Given the description of an element on the screen output the (x, y) to click on. 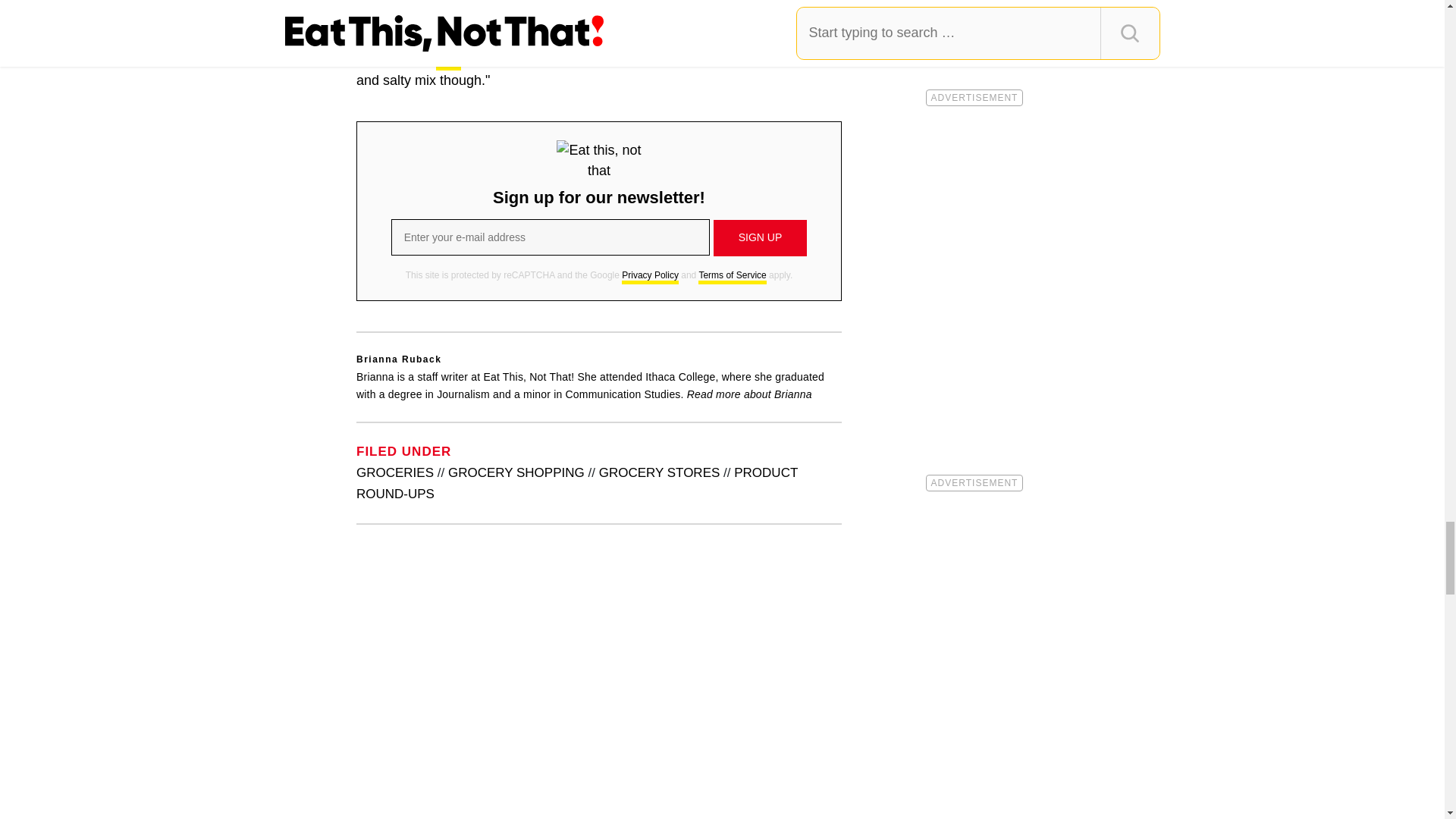
Eat This Not That (599, 160)
Sign Up (760, 238)
